Given the description of an element on the screen output the (x, y) to click on. 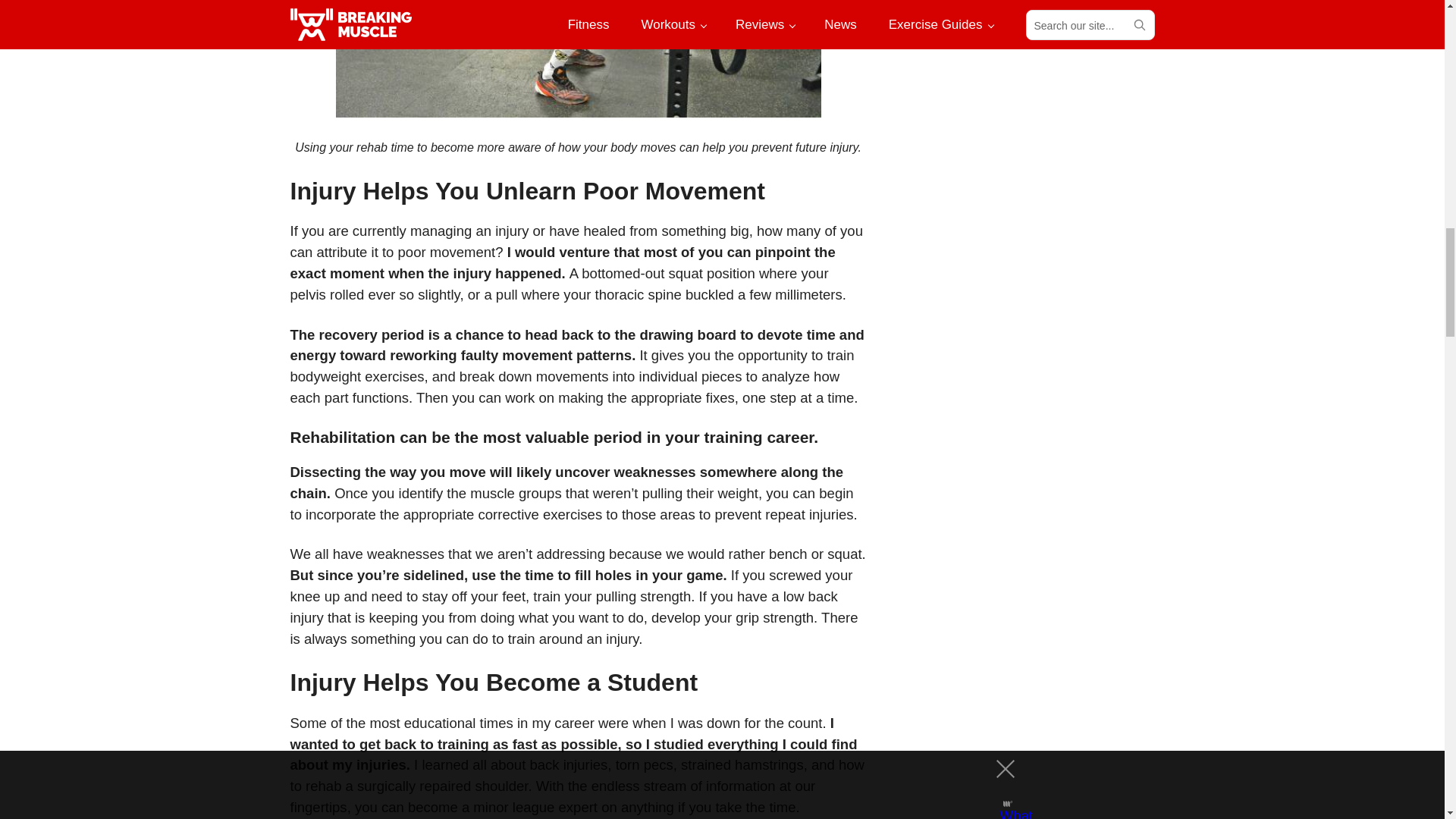
light squat for rehab (577, 58)
